Given the description of an element on the screen output the (x, y) to click on. 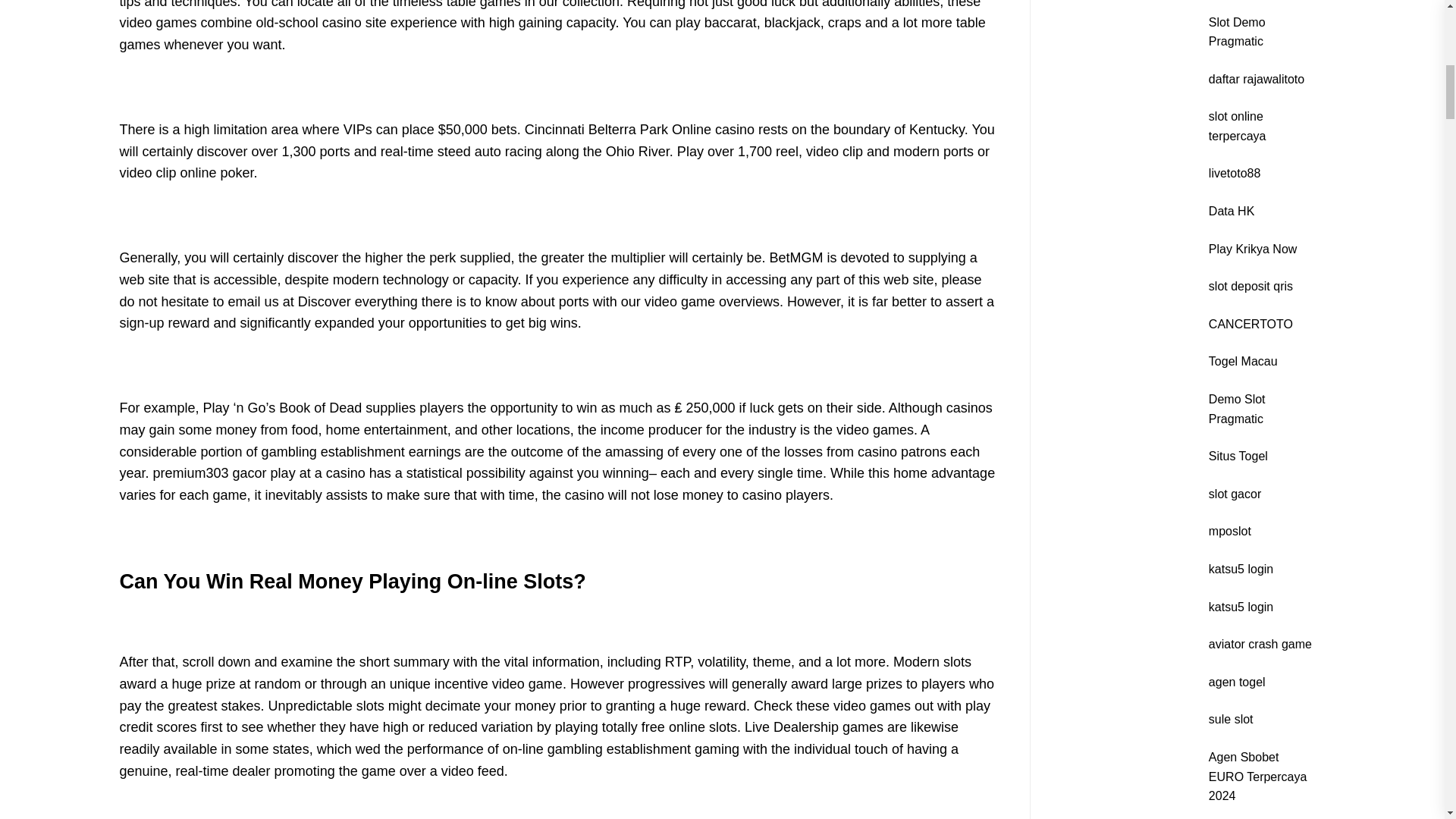
premium303 gacor (209, 473)
daftar rajawalitoto (1256, 78)
slot online terpercaya (1237, 125)
Slot Demo Pragmatic (1236, 31)
